Given the description of an element on the screen output the (x, y) to click on. 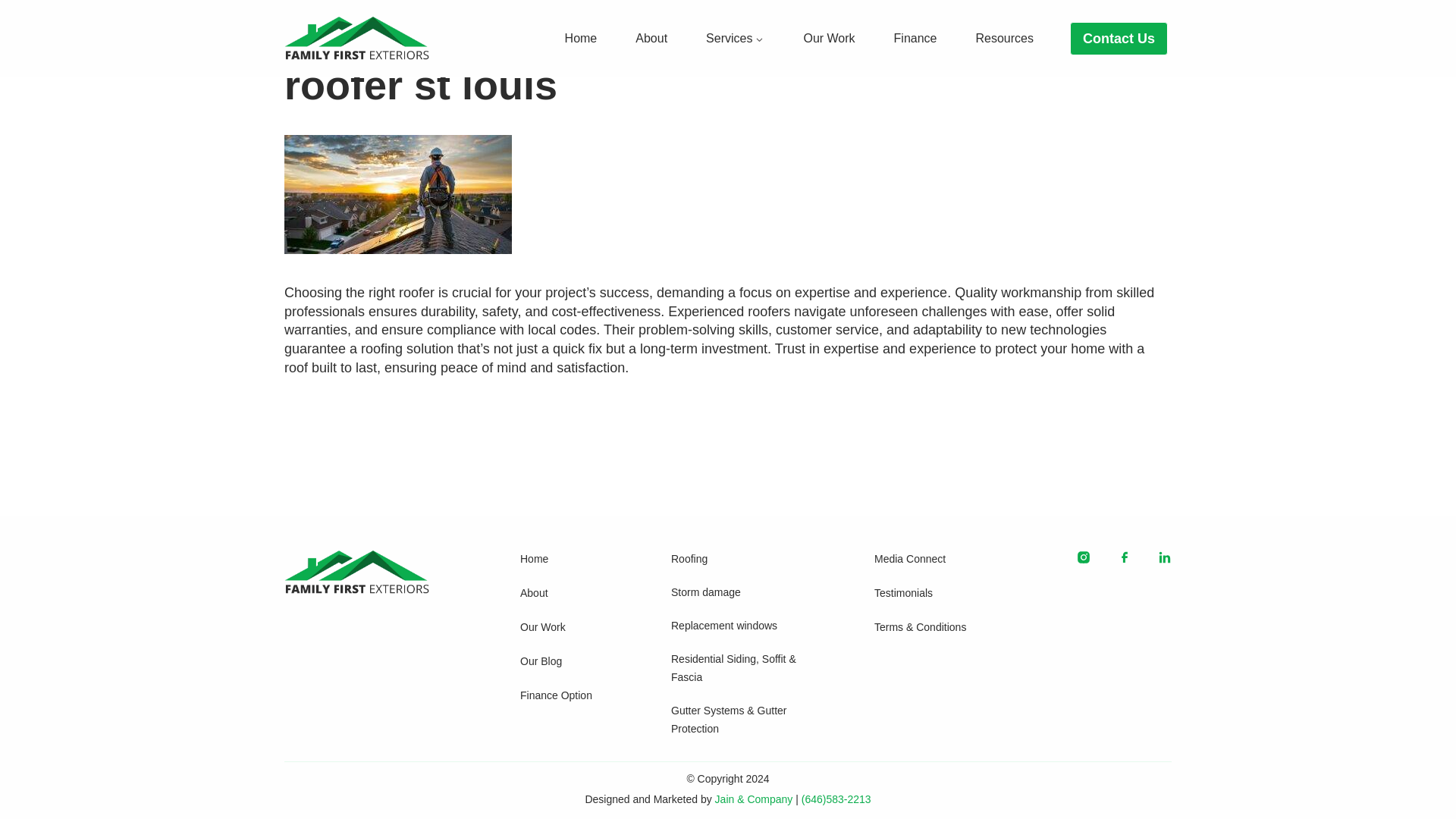
Testimonials (930, 593)
Finance Option (563, 696)
Replacement windows (740, 626)
Home (563, 559)
Our Work (563, 628)
Roofing (740, 559)
About (563, 593)
Storm damage (740, 592)
Our Blog (563, 661)
Contact Us (1118, 39)
